Given the description of an element on the screen output the (x, y) to click on. 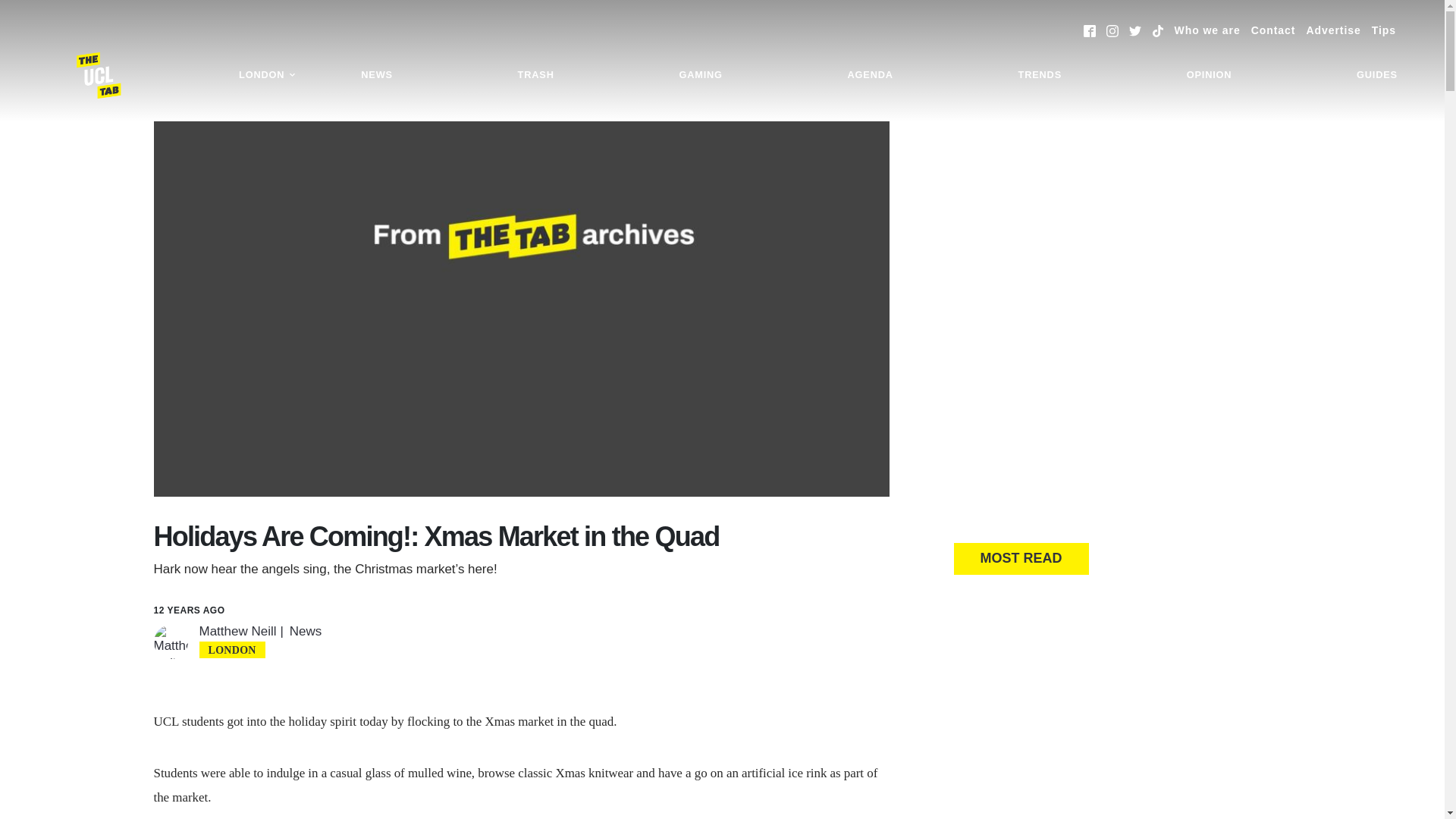
Contact (1272, 29)
GAMING (699, 75)
TRASH (536, 75)
AGENDA (869, 75)
LONDON (267, 75)
TRENDS (1040, 75)
Advertise (1332, 29)
Who we are (1207, 29)
OPINION (1208, 75)
GUIDES (1377, 75)
